Given the description of an element on the screen output the (x, y) to click on. 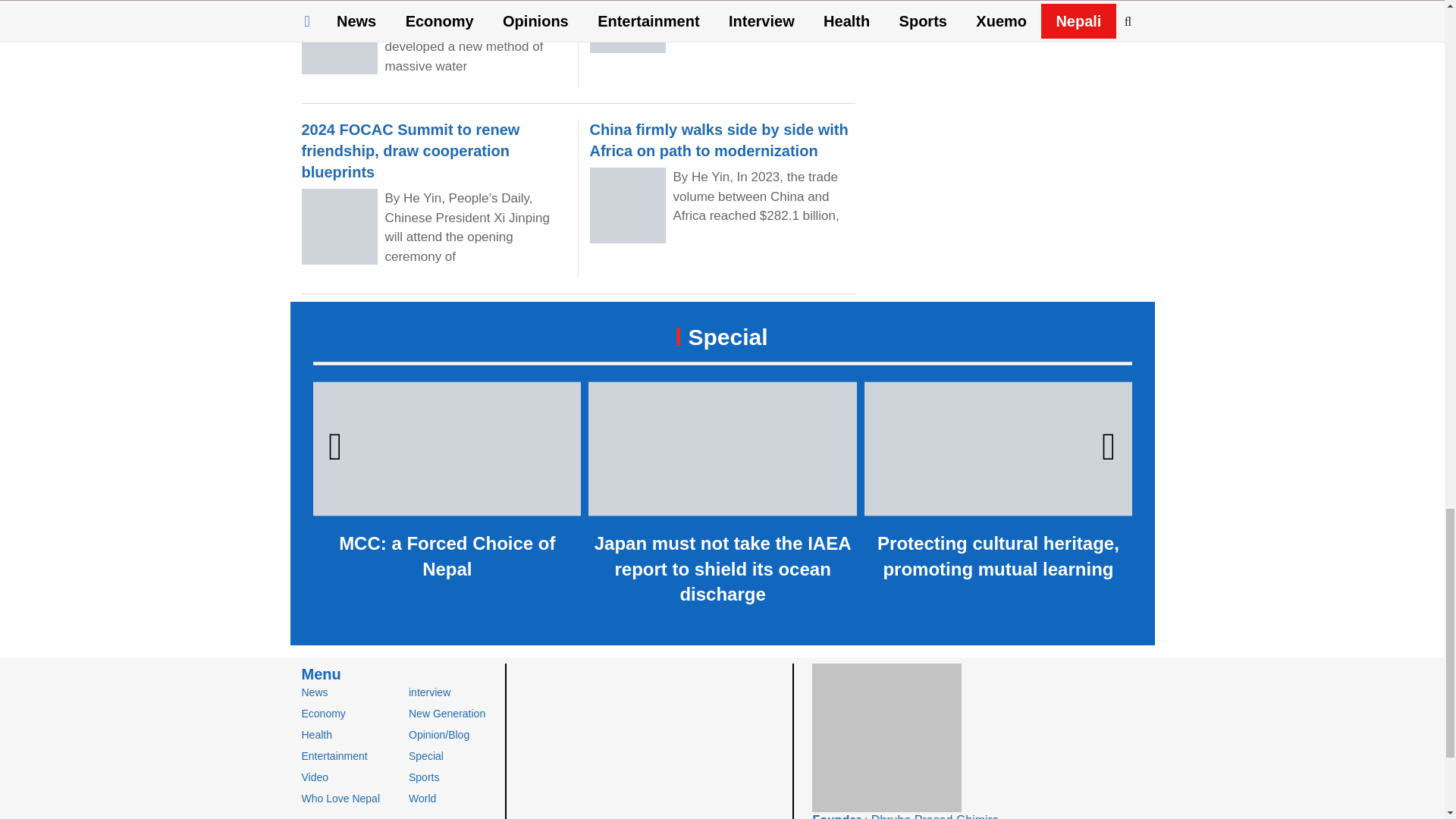
Protecting cultural heritage, promoting mutual learning (998, 483)
Special (722, 336)
MCC: a Forced Choice of Nepal (446, 483)
